Given the description of an element on the screen output the (x, y) to click on. 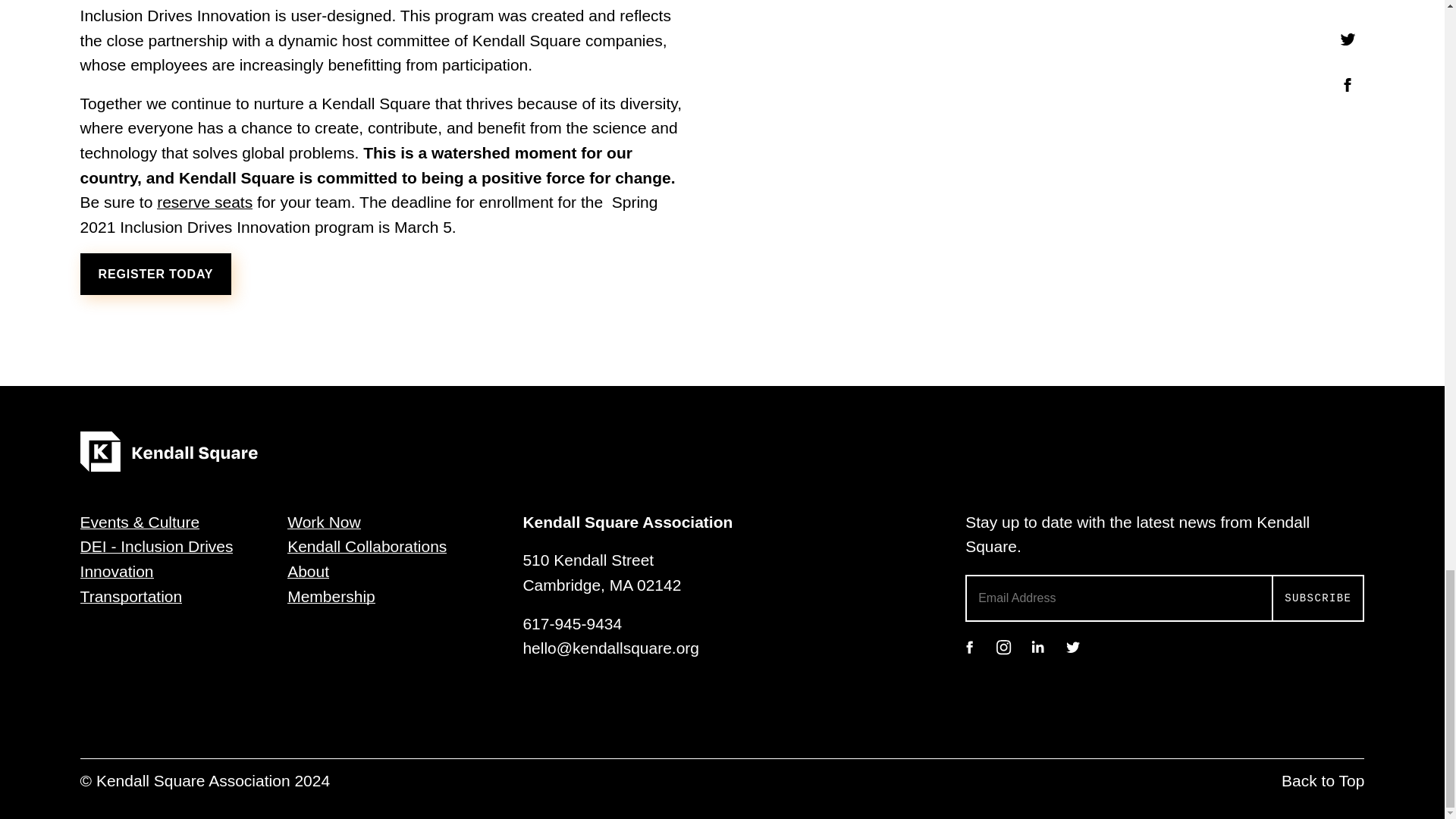
REGISTER TODAY (155, 273)
reserve seats (204, 201)
subscribe (1317, 597)
Back to Top (1322, 780)
